Given the description of an element on the screen output the (x, y) to click on. 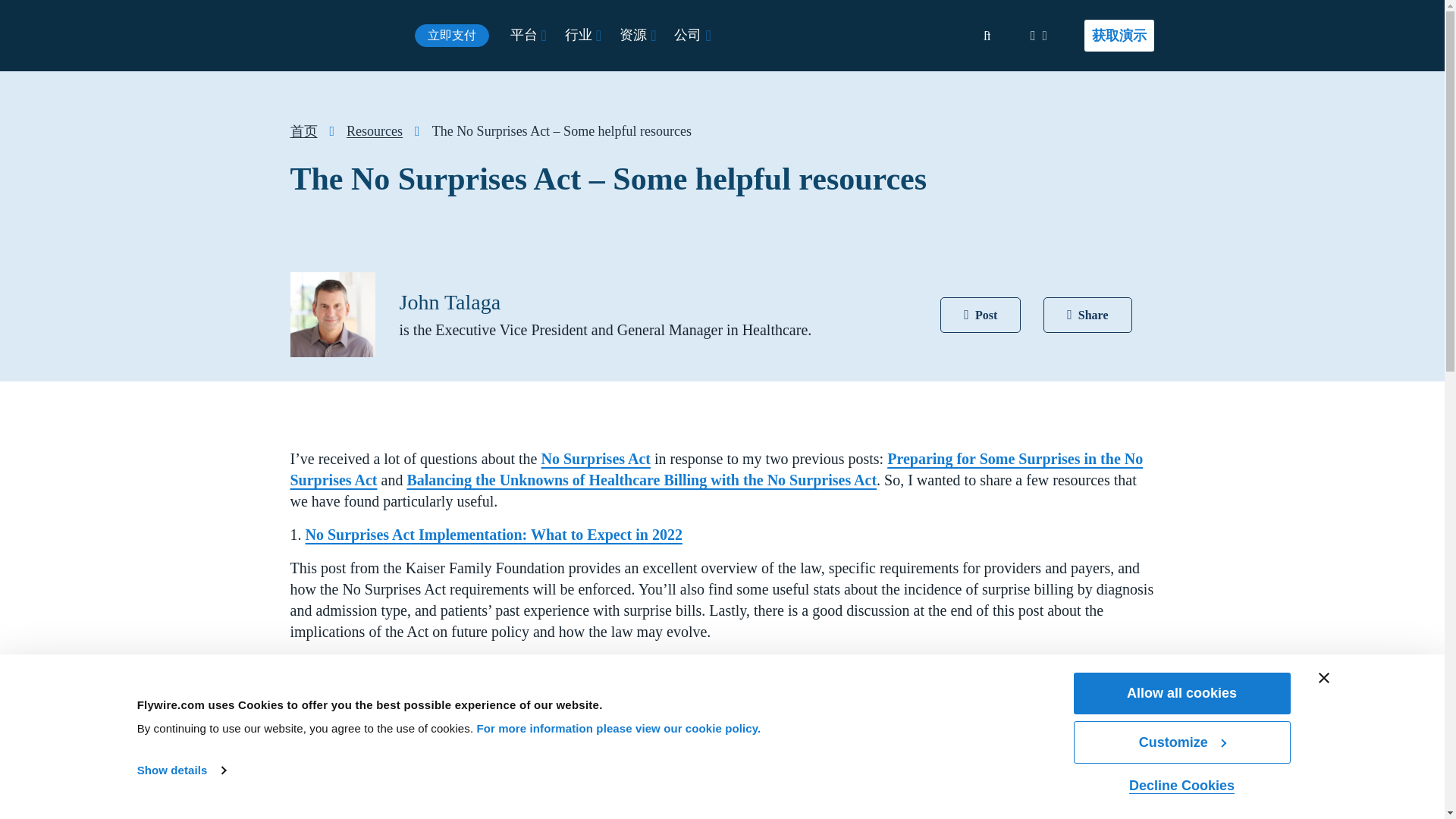
Show details (180, 770)
For more information please view our cookie policy. (618, 727)
